Given the description of an element on the screen output the (x, y) to click on. 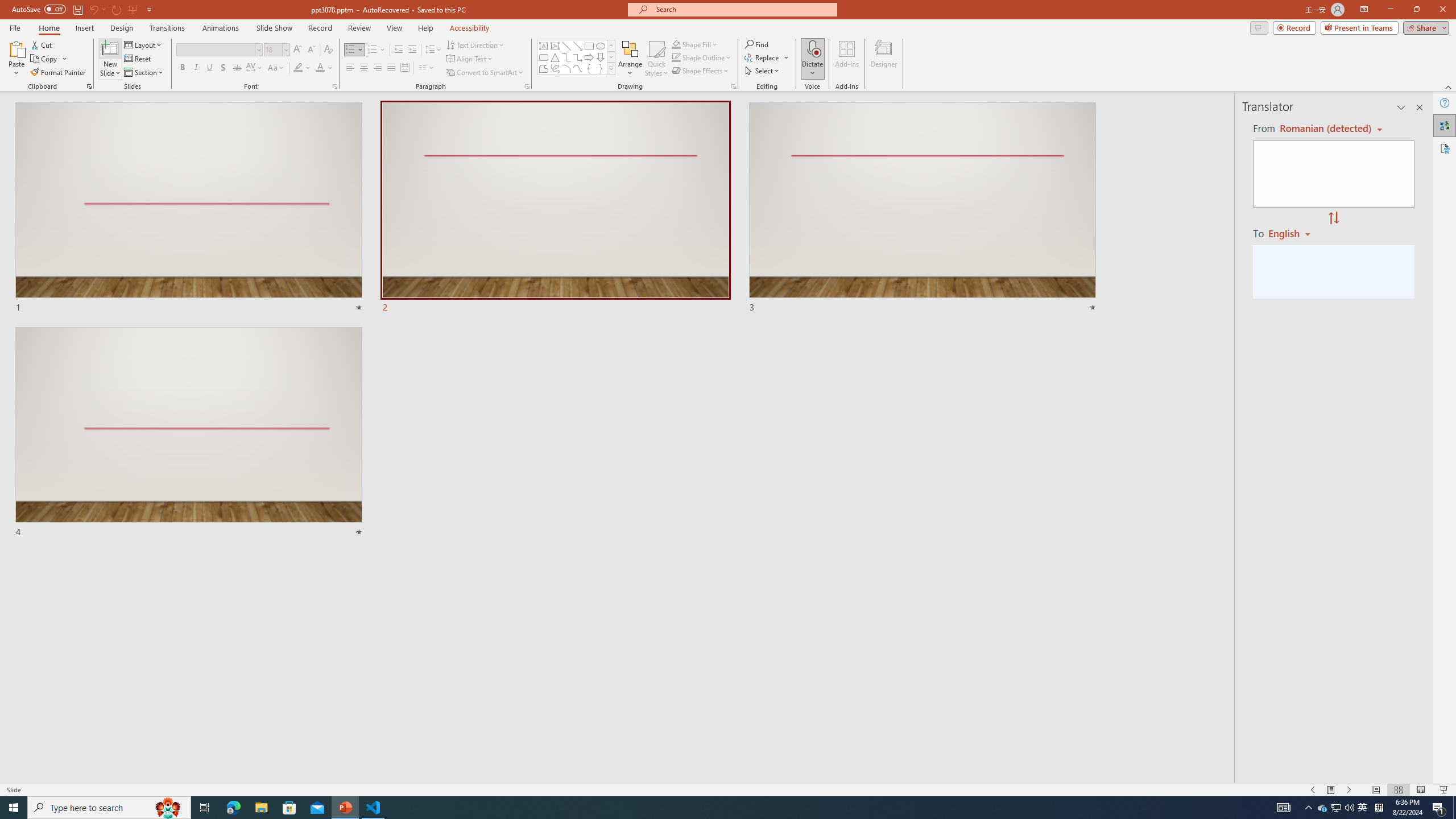
Convert to SmartArt (485, 72)
Paragraph... (526, 85)
Italic (195, 67)
Connector: Elbow Arrow (577, 57)
Reset (138, 58)
Increase Indent (412, 49)
Shape Fill Dark Green, Accent 2 (675, 44)
